Given the description of an element on the screen output the (x, y) to click on. 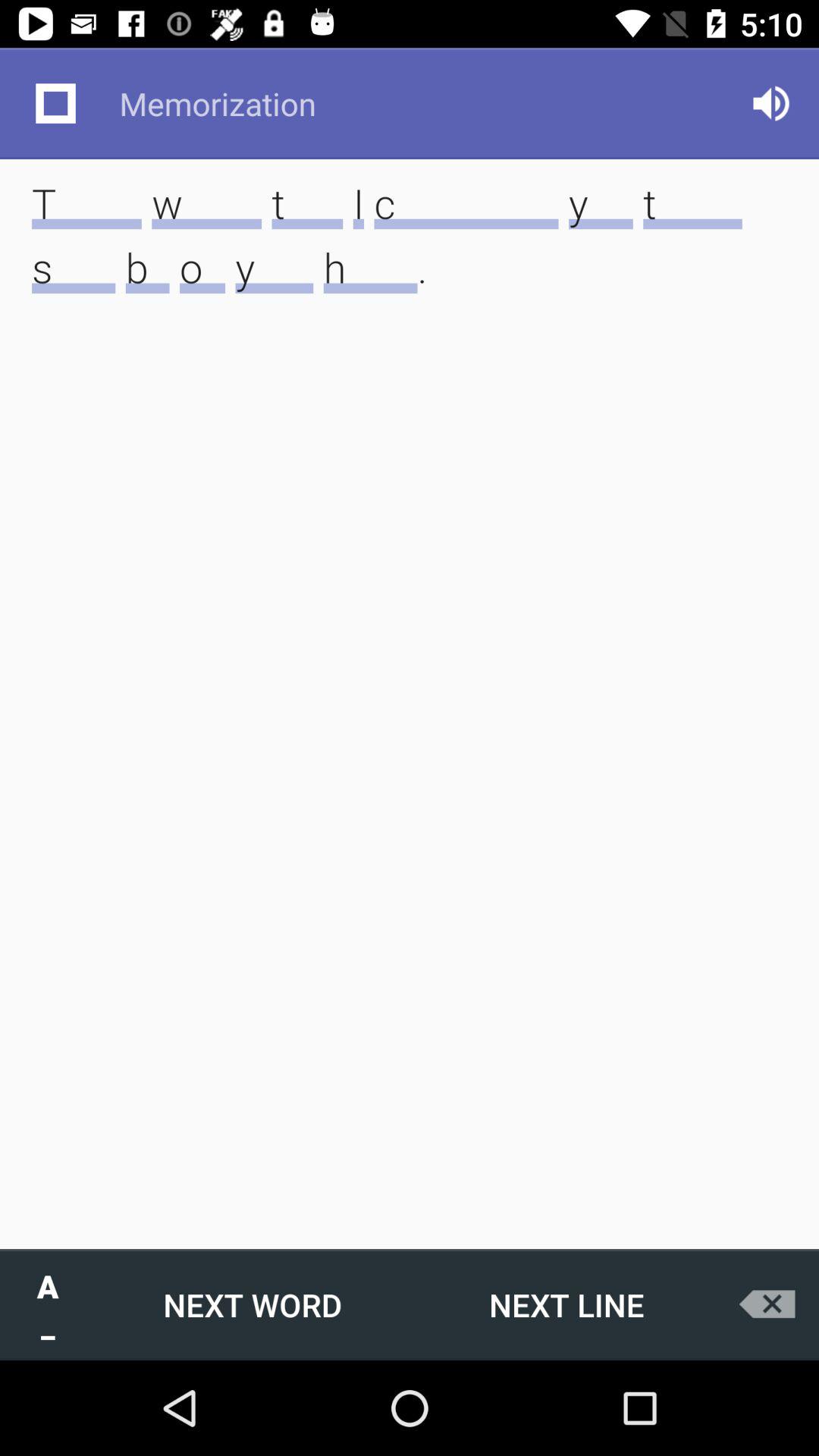
click the item next to next word item (566, 1304)
